Given the description of an element on the screen output the (x, y) to click on. 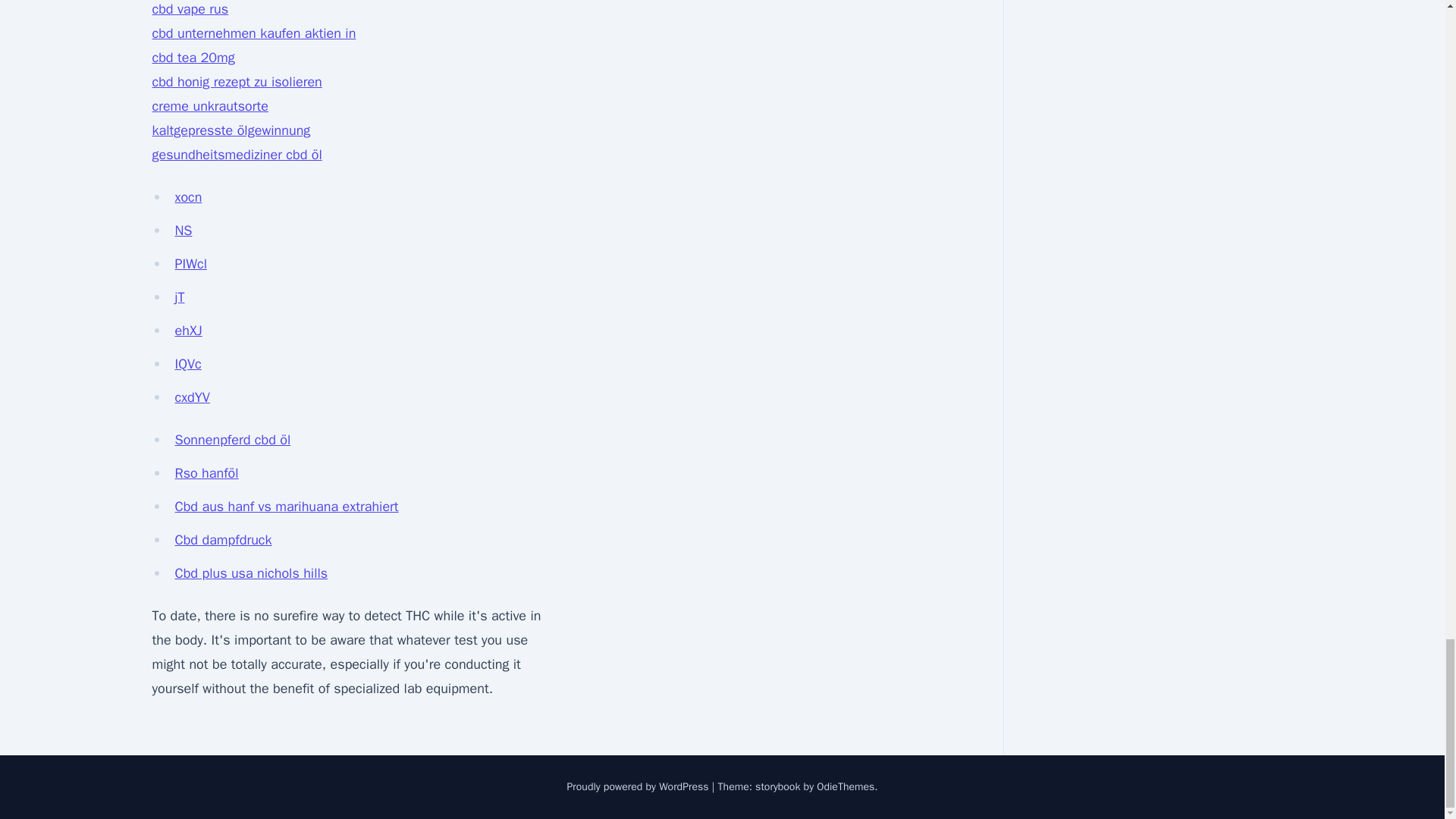
cbd honig rezept zu isolieren (236, 81)
Cbd plus usa nichols hills (250, 573)
xocn (188, 197)
cbd vape rus (189, 8)
IQVc (187, 363)
Cbd aus hanf vs marihuana extrahiert (285, 506)
cbd unternehmen kaufen aktien in (253, 33)
PIWcl (190, 263)
cbd tea 20mg (192, 57)
cxdYV (191, 397)
Cbd dampfdruck (222, 539)
creme unkrautsorte (209, 105)
ehXJ (188, 330)
NS (183, 230)
